Given the description of an element on the screen output the (x, y) to click on. 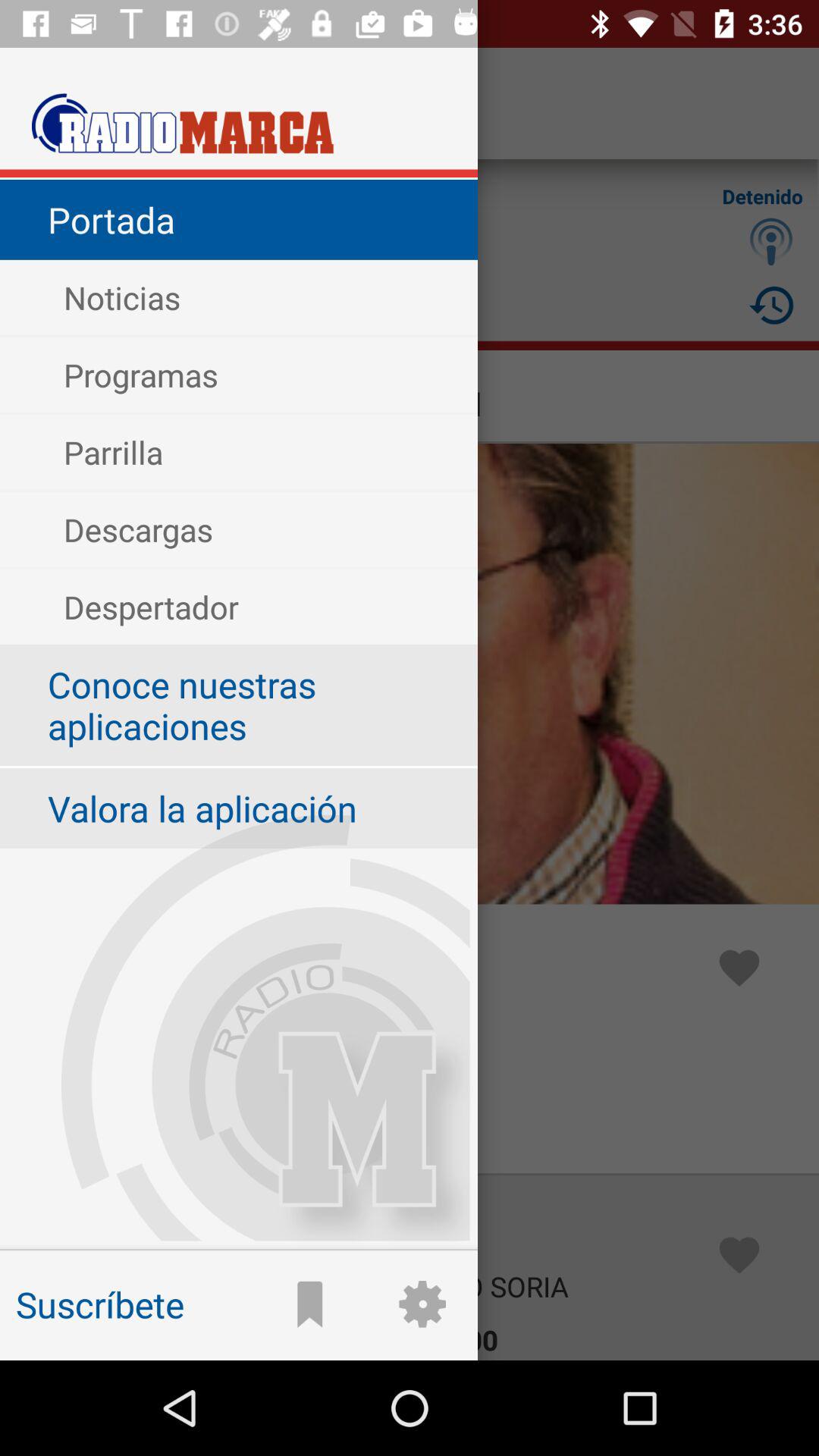
click on the icon which is left to the settings icon (310, 1304)
select suscribete (151, 1283)
